Given the description of an element on the screen output the (x, y) to click on. 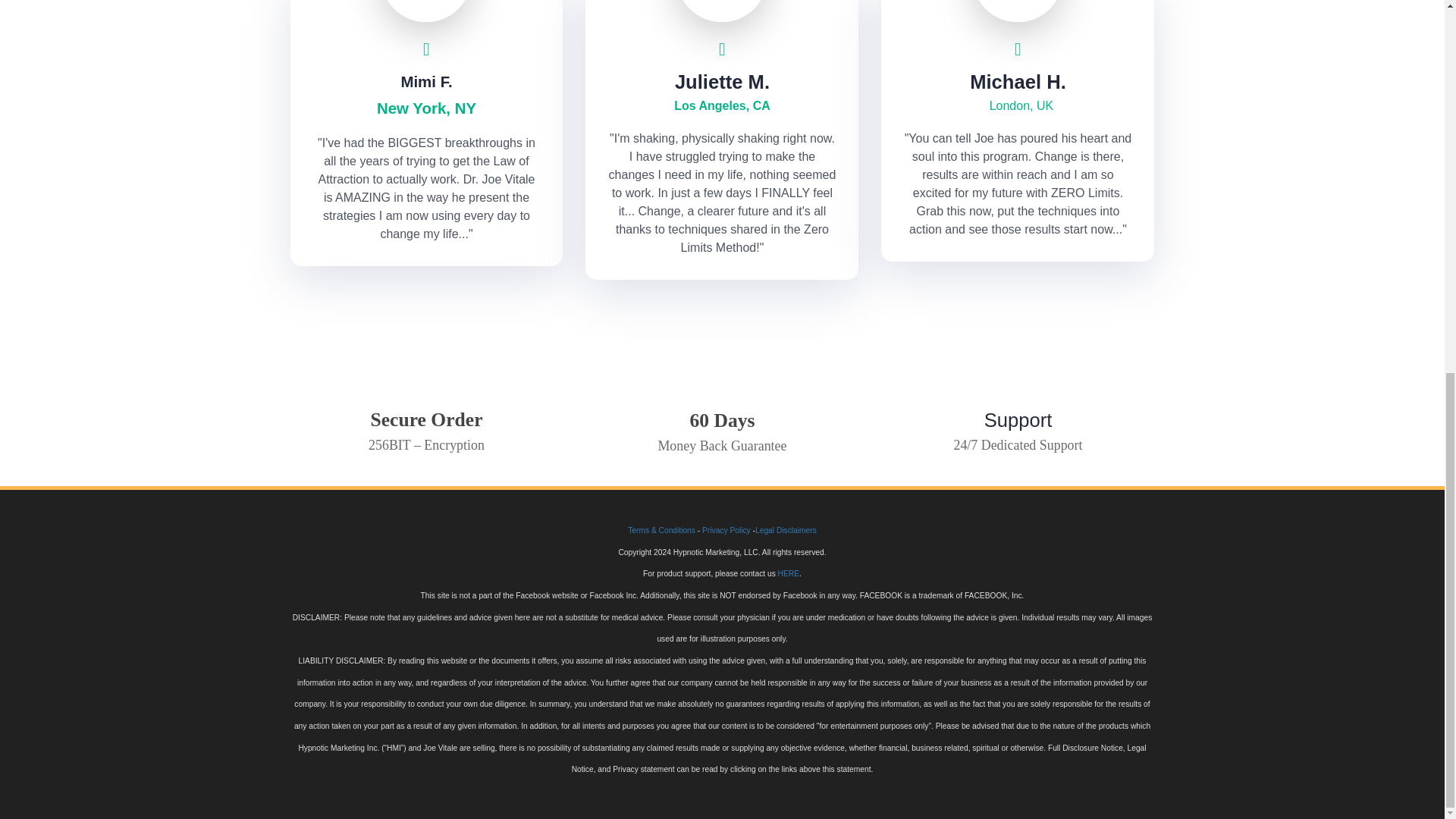
Legal Disclaimers (785, 530)
Privacy Policy (726, 530)
HERE (788, 573)
